Given the description of an element on the screen output the (x, y) to click on. 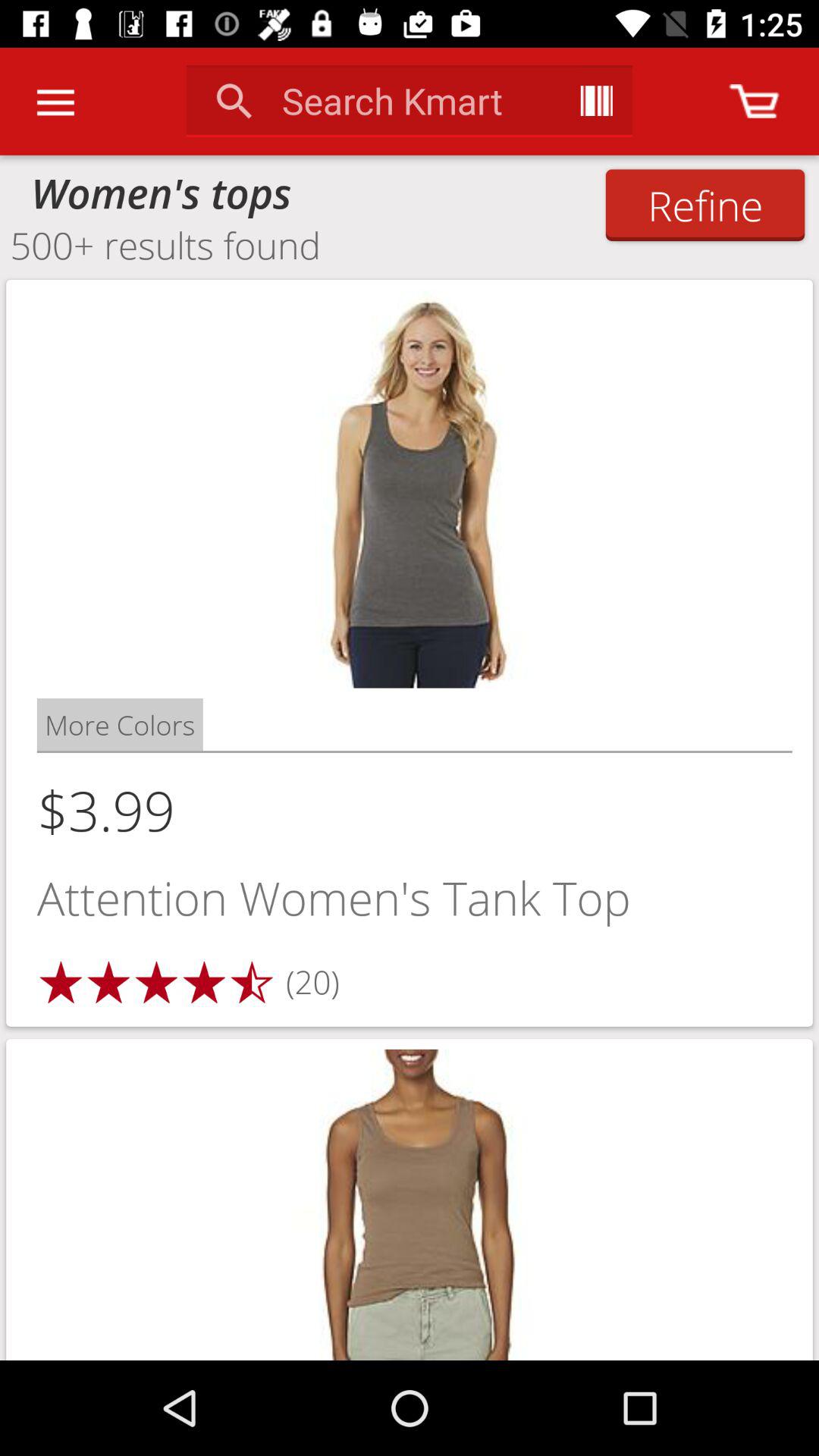
turn on app to the right of the search kmart (596, 100)
